Given the description of an element on the screen output the (x, y) to click on. 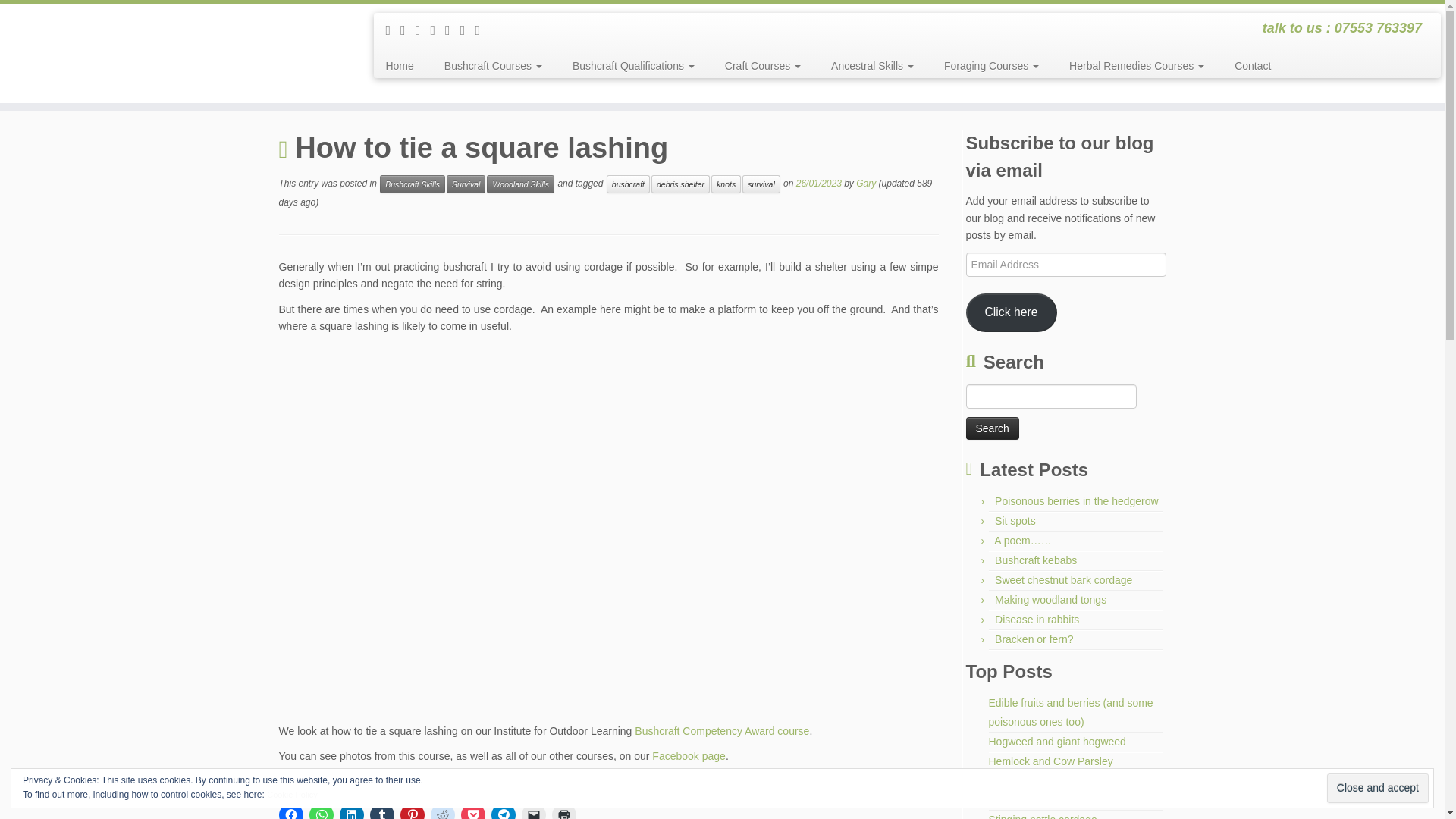
Jack Raven Bushcraft (293, 105)
Bushcraft Courses (493, 65)
Search (992, 427)
Bushcraft Qualifications (633, 65)
Follow us on Tumblr (452, 29)
Follow us on Facebook (392, 29)
Close and accept (1377, 788)
View all posts in Bushcraft Skills (412, 184)
Home (404, 65)
Craft Courses (762, 65)
